Given the description of an element on the screen output the (x, y) to click on. 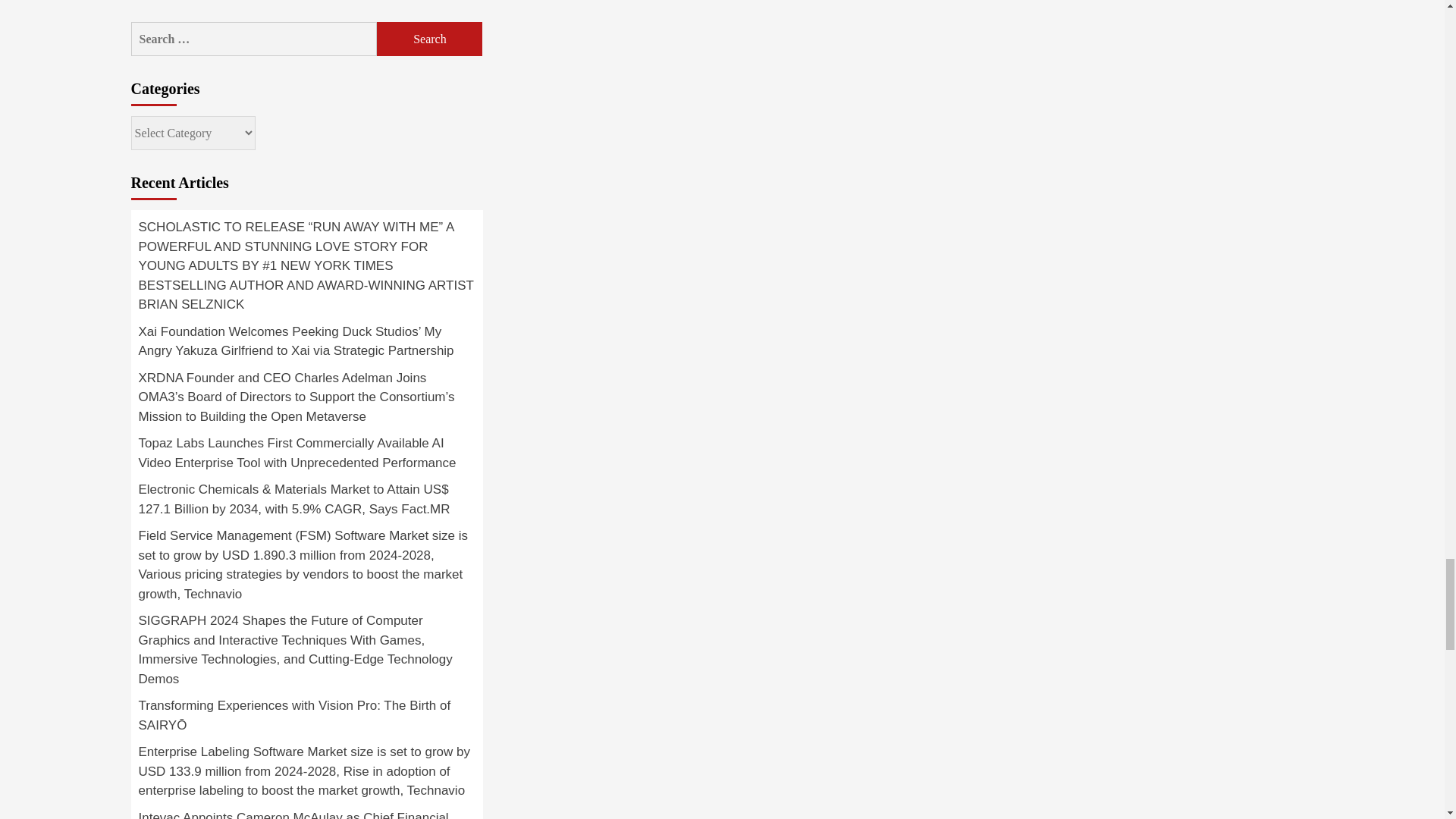
Search (429, 39)
Search (429, 39)
Search (429, 39)
